Given the description of an element on the screen output the (x, y) to click on. 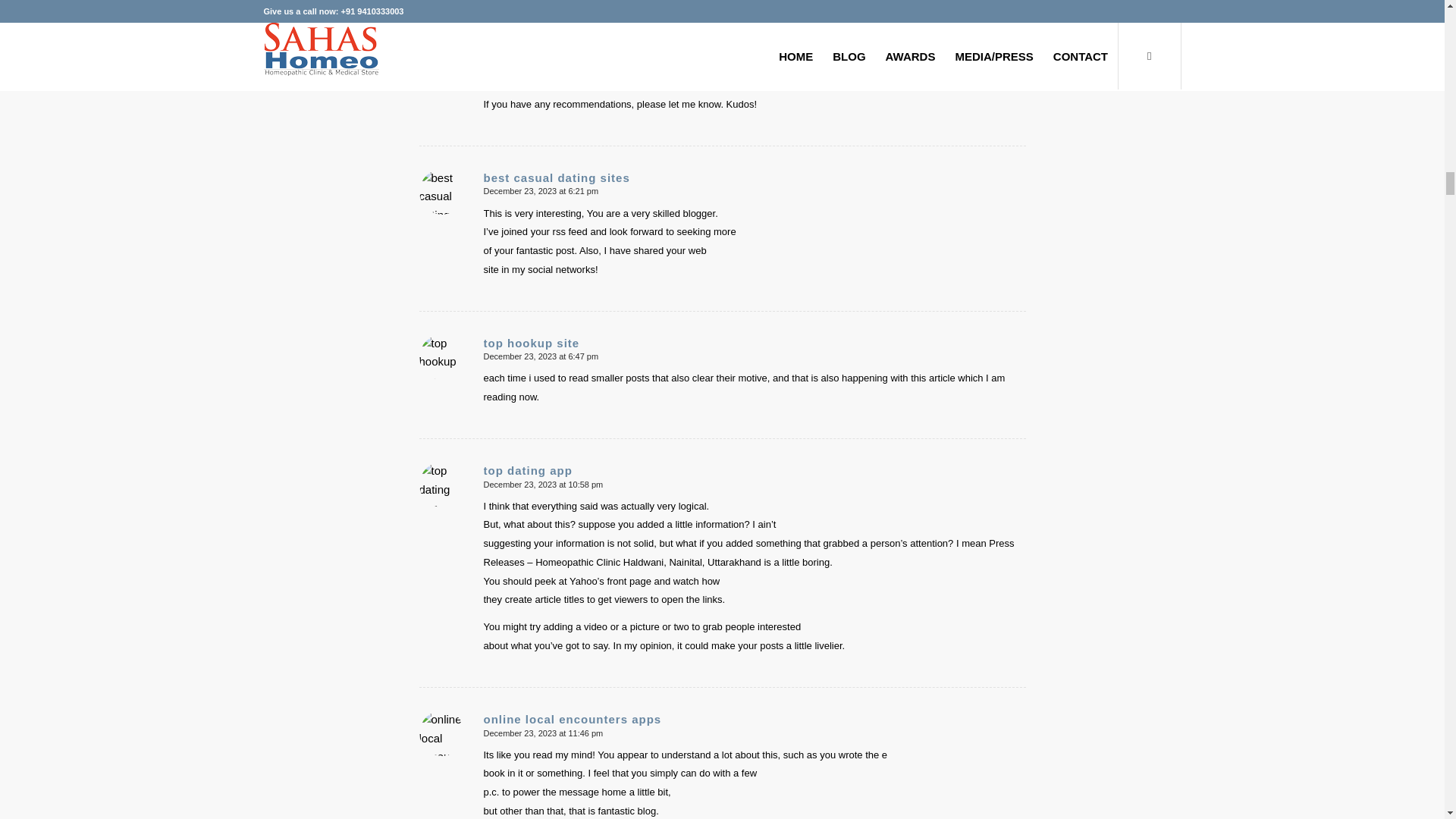
December 23, 2023 at 6:47 pm (540, 356)
top hookup site (531, 342)
November 21, 2023 at 7:41 pm (540, 26)
top dating app (527, 470)
online local encounters apps (572, 718)
December 23, 2023 at 6:21 pm (540, 190)
December 23, 2023 at 10:58 pm (543, 483)
December 23, 2023 at 11:46 pm (543, 732)
Click In this article (541, 11)
best casual dating sites (556, 177)
